Given the description of an element on the screen output the (x, y) to click on. 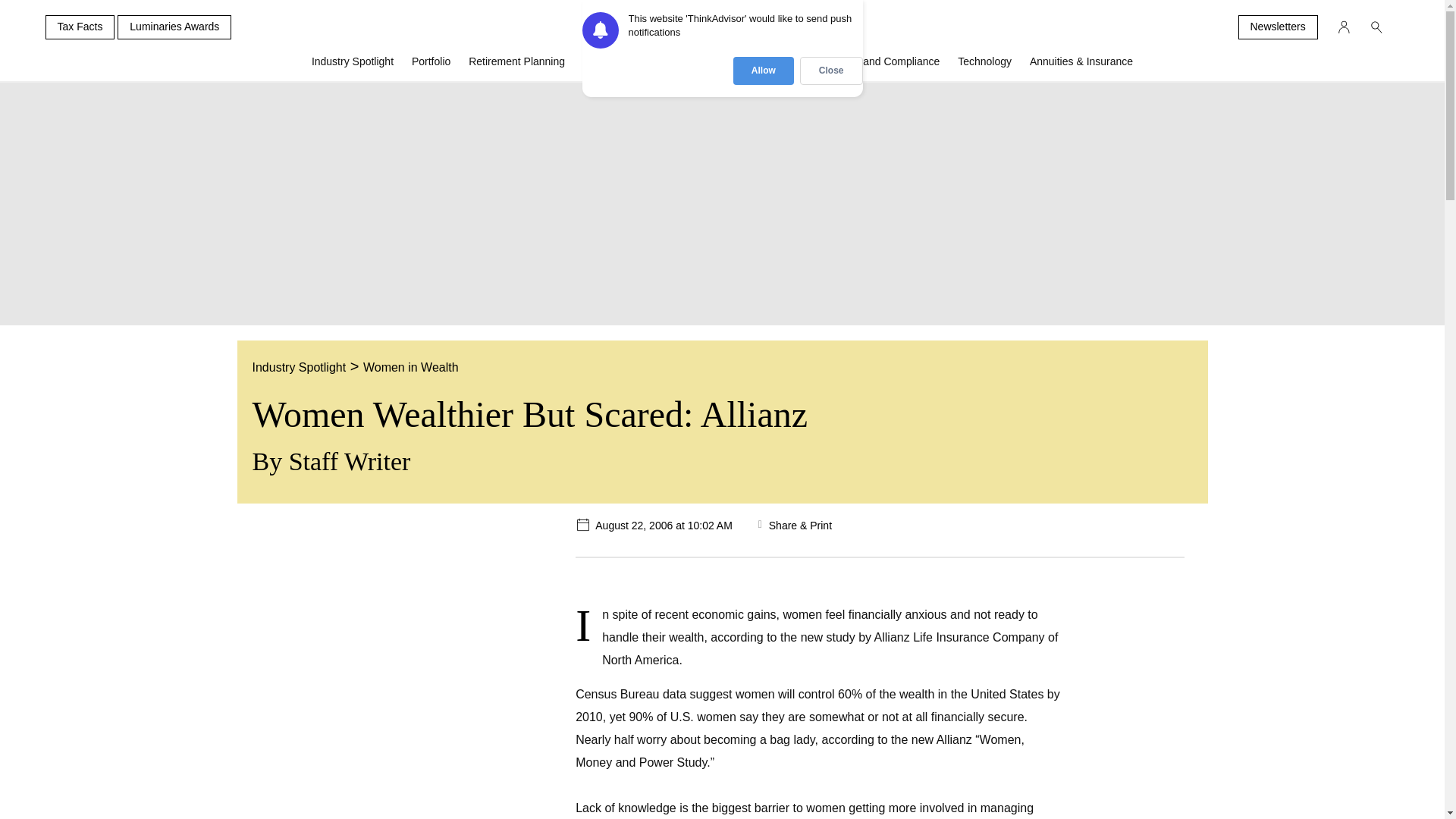
Industry Spotlight (352, 67)
Newsletters (1277, 27)
Luminaries Awards (174, 27)
Tax Facts (80, 27)
